Given the description of an element on the screen output the (x, y) to click on. 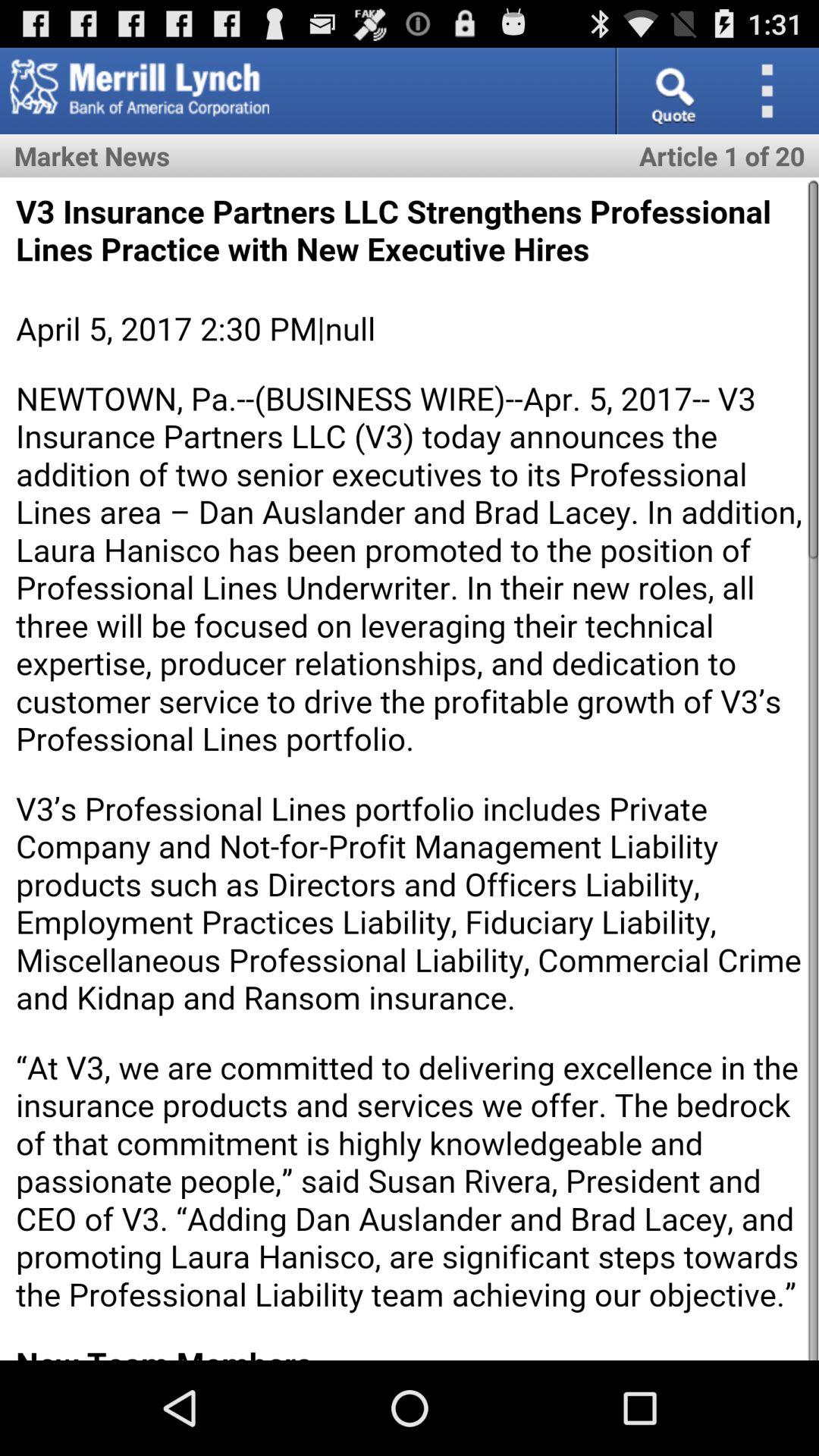
option button (772, 90)
